Given the description of an element on the screen output the (x, y) to click on. 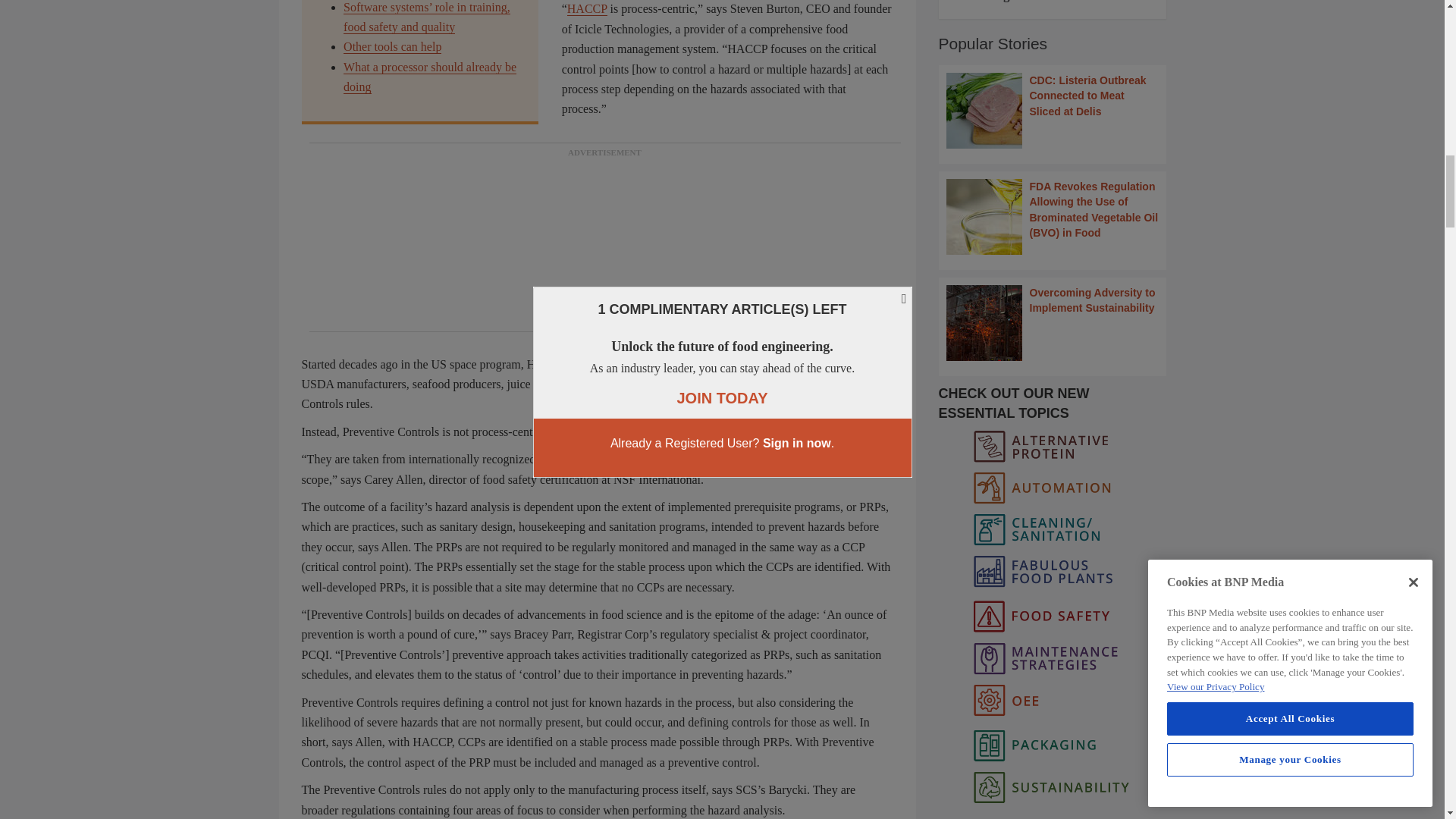
Overcoming Adversity to Implement Sustainability  (1052, 323)
CDC: Listeria Outbreak Connected to Meat Sliced at Delis (1052, 110)
